Given the description of an element on the screen output the (x, y) to click on. 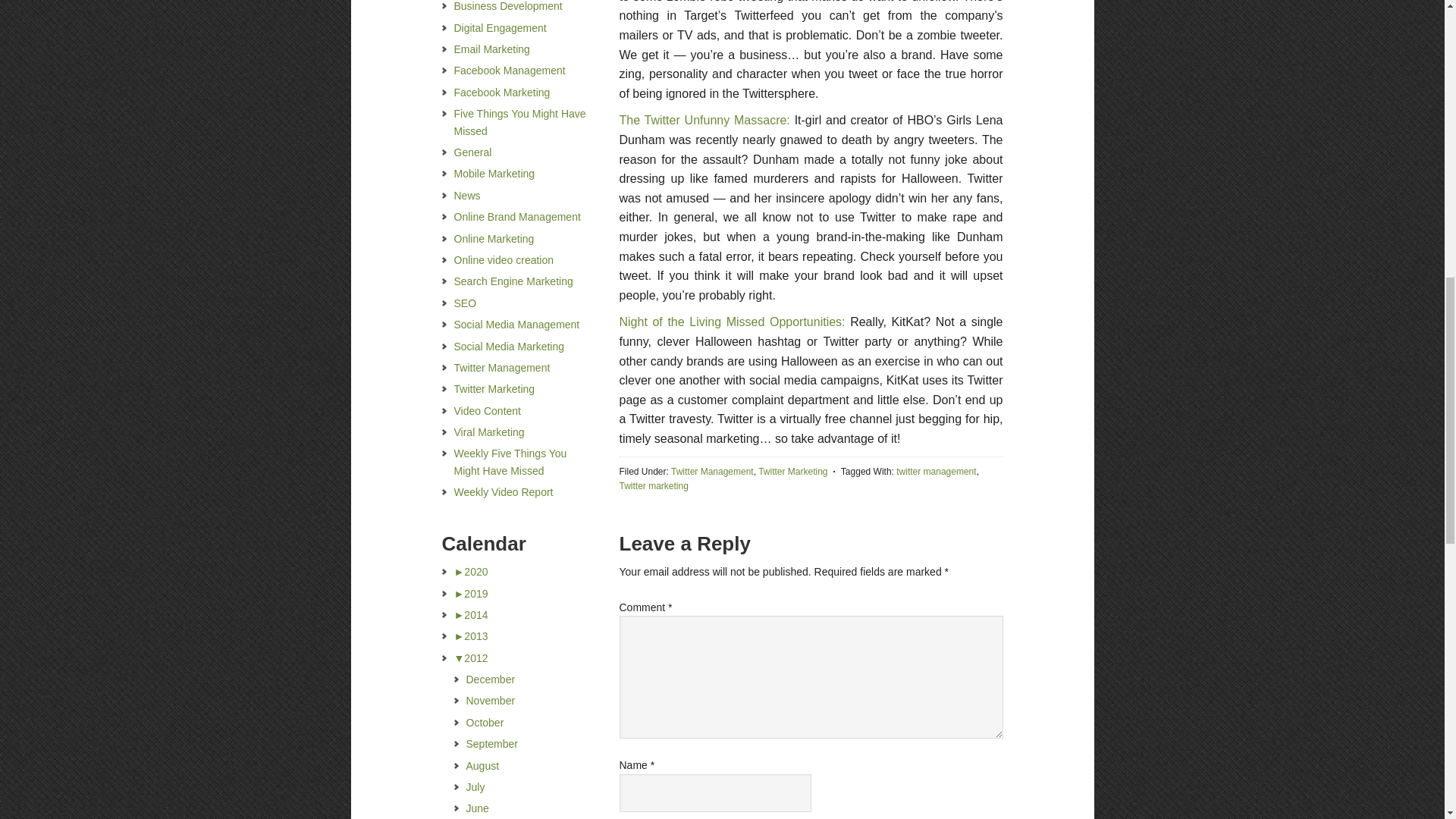
The Twitter Unfunny Massacre: (703, 119)
Twitter Management (712, 471)
Digital Engagement (499, 28)
Twitter marketing (652, 485)
Business Development (507, 6)
Night of the Living Missed Opportunities: (731, 321)
2019 (469, 593)
twitter management (935, 471)
2014 (469, 614)
2020 (469, 571)
